Given the description of an element on the screen output the (x, y) to click on. 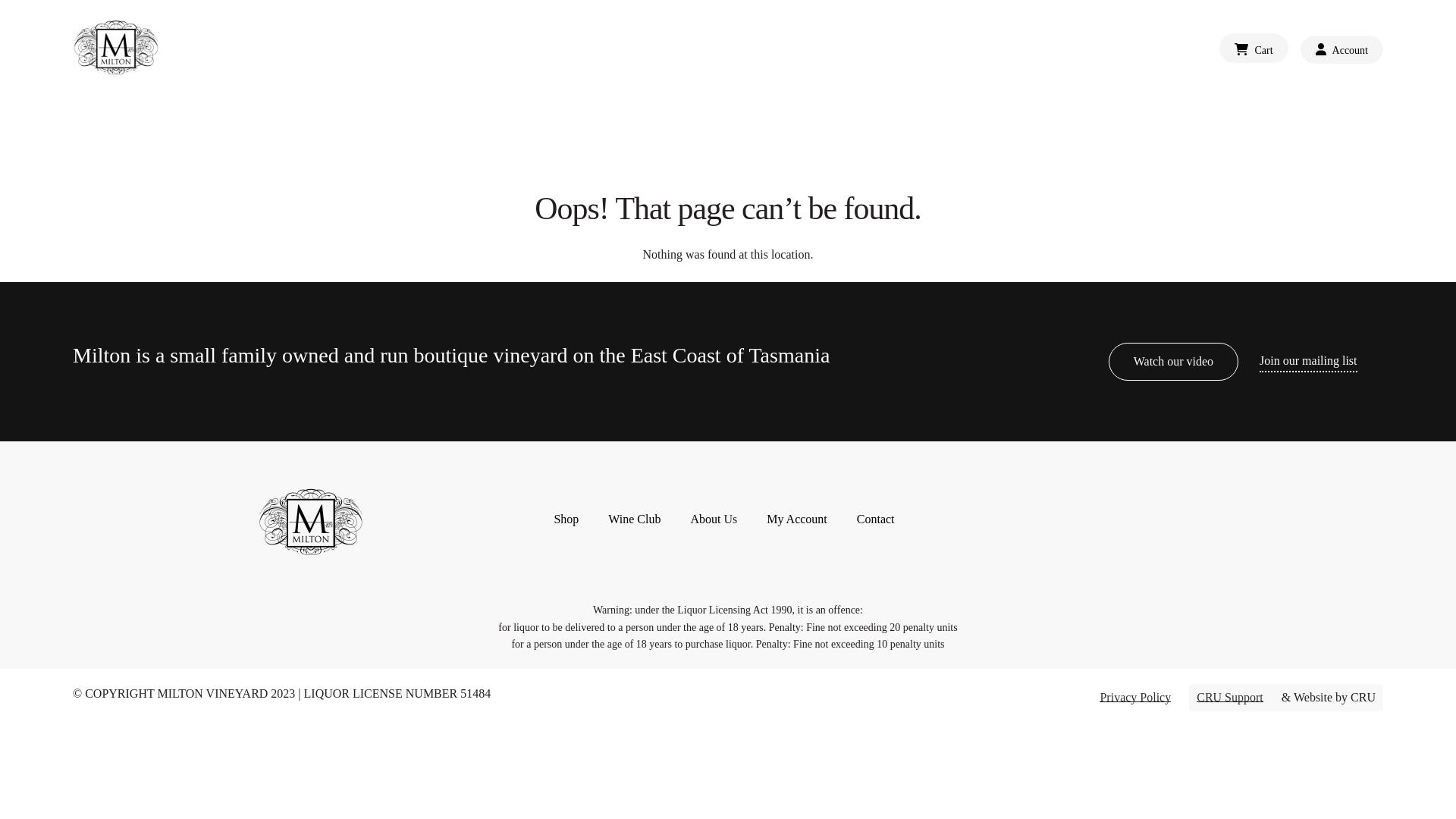
Restaurant Element type: text (767, 48)
My Account Element type: text (796, 518)
Watch our video Element type: text (1173, 361)
Cellar Door Element type: text (844, 48)
Cart Element type: text (1253, 47)
Shop Element type: text (907, 48)
CRU Support Element type: text (1229, 697)
Contact Element type: text (875, 518)
Join our mailing list Element type: text (1307, 360)
Shop Element type: text (565, 518)
Wine Club Element type: text (968, 48)
Privacy Policy Element type: text (1134, 697)
Join Our Mailing List Element type: text (1069, 48)
Account Element type: text (1341, 49)
About Us Element type: text (696, 48)
About Element type: text (705, 518)
Contact Us Element type: text (1171, 48)
Wine Club Element type: text (634, 518)
